Given the description of an element on the screen output the (x, y) to click on. 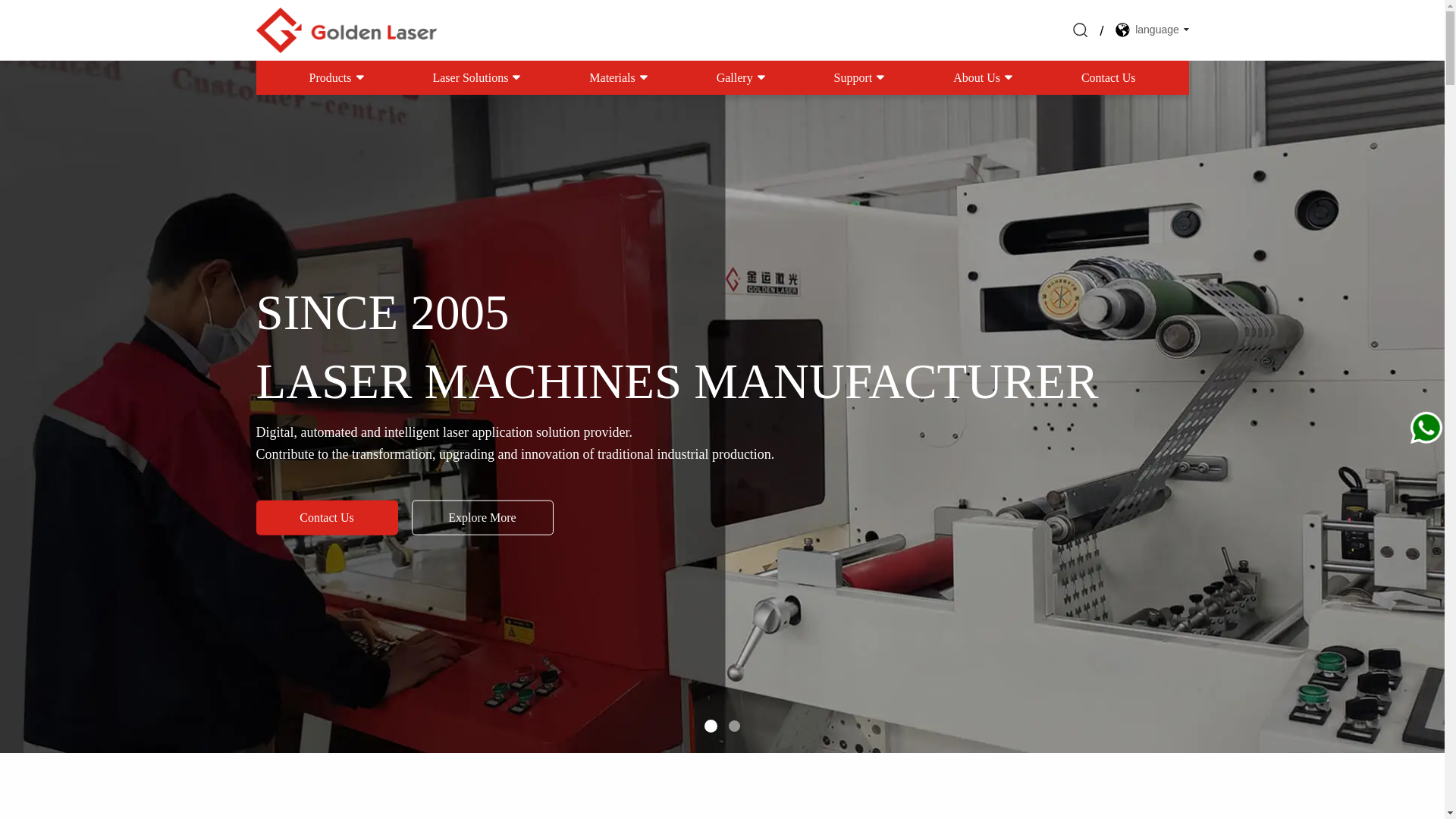
About Us Element type: text (984, 77)
Materials Element type: text (619, 77)
Support Element type: text (861, 77)
Contact Us Element type: text (1108, 77)
Laser Solutions Element type: text (477, 77)
Gallery Element type: text (742, 77)
Explore More Element type: text (481, 517)
+8615871714482 Element type: text (1355, 438)
Products Element type: text (338, 77)
language Element type: text (1149, 28)
Contact Us Element type: text (327, 517)
Search Element type: text (1109, 29)
